Given the description of an element on the screen output the (x, y) to click on. 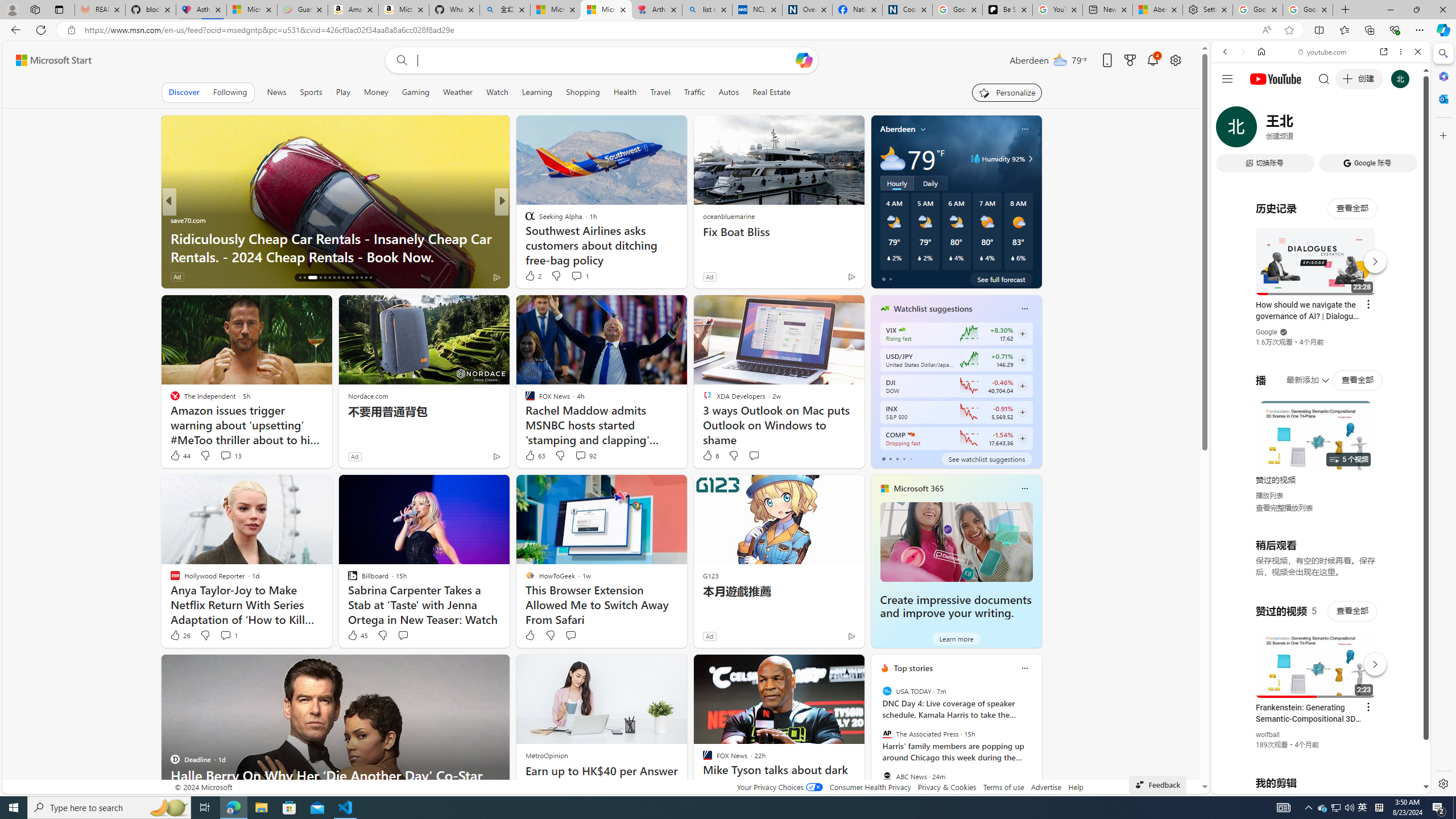
View comments 31 Comment (580, 276)
list of asthma inhalers uk - Search (706, 9)
Health (624, 92)
This site scope (1259, 102)
Show More Music (1390, 310)
